Given the description of an element on the screen output the (x, y) to click on. 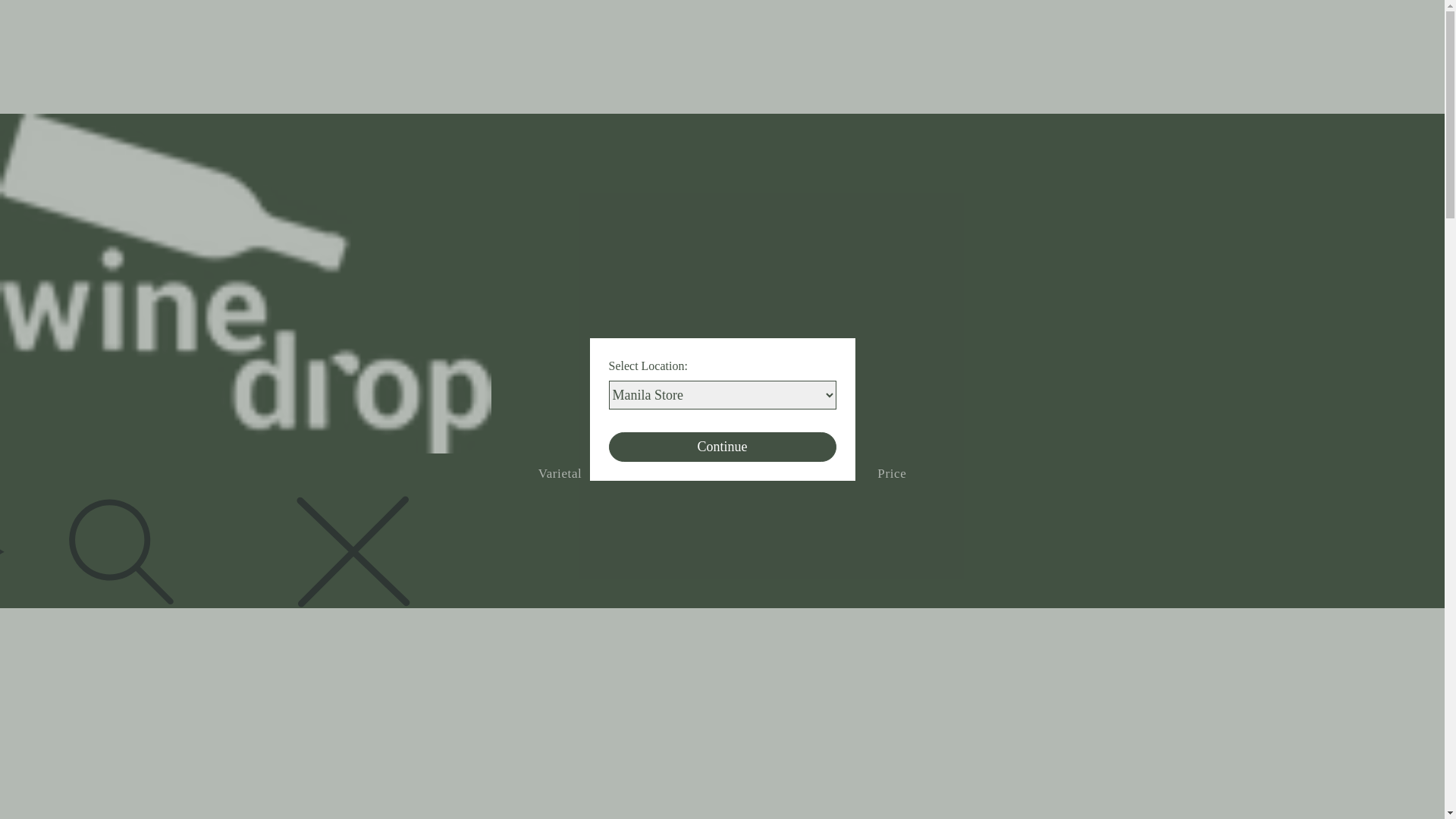
Varietal (559, 473)
Continue (721, 446)
